Given the description of an element on the screen output the (x, y) to click on. 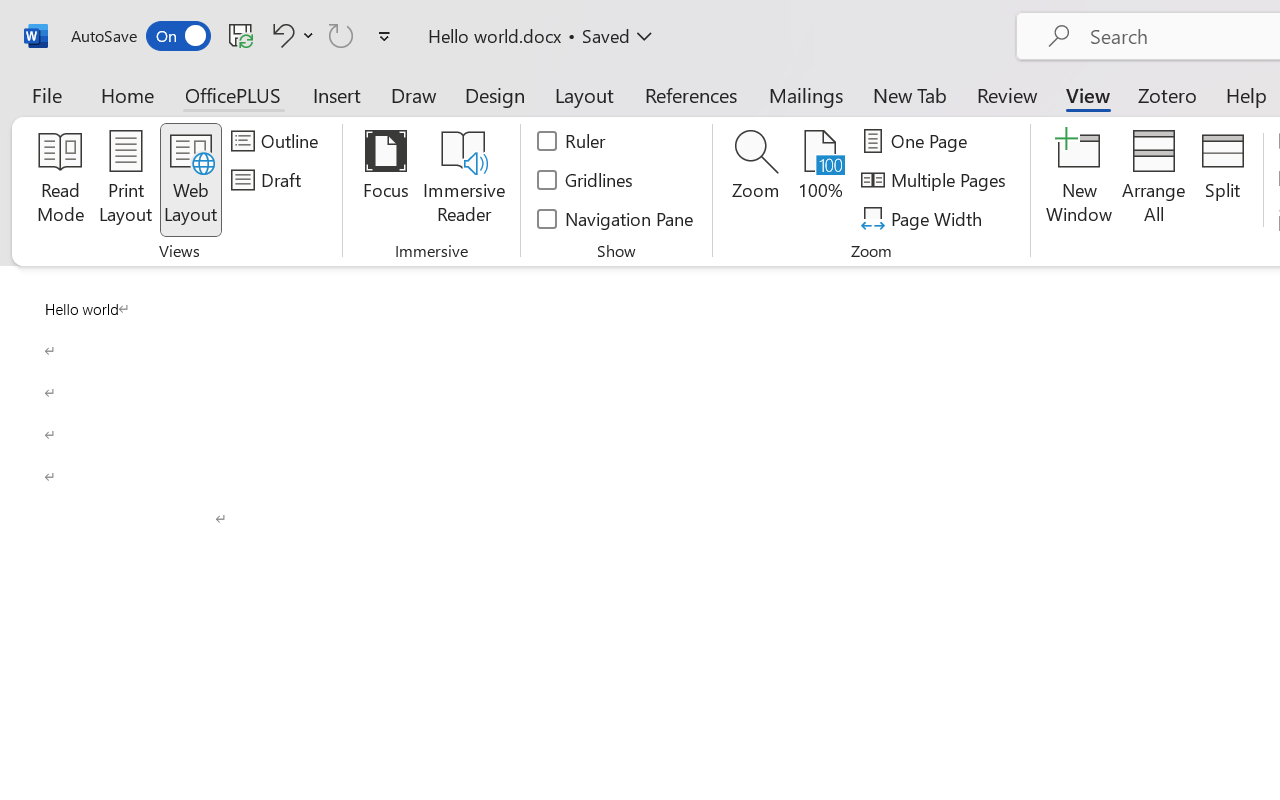
AutoSave (140, 35)
Gridlines (586, 179)
Layout (584, 94)
Save (241, 35)
More Options (308, 35)
File Tab (46, 94)
Immersive Reader (464, 179)
Print Layout (125, 179)
Insert (337, 94)
Can't Repeat (341, 35)
Ruler (572, 141)
One Page (917, 141)
Arrange All (1153, 179)
References (690, 94)
